Given the description of an element on the screen output the (x, y) to click on. 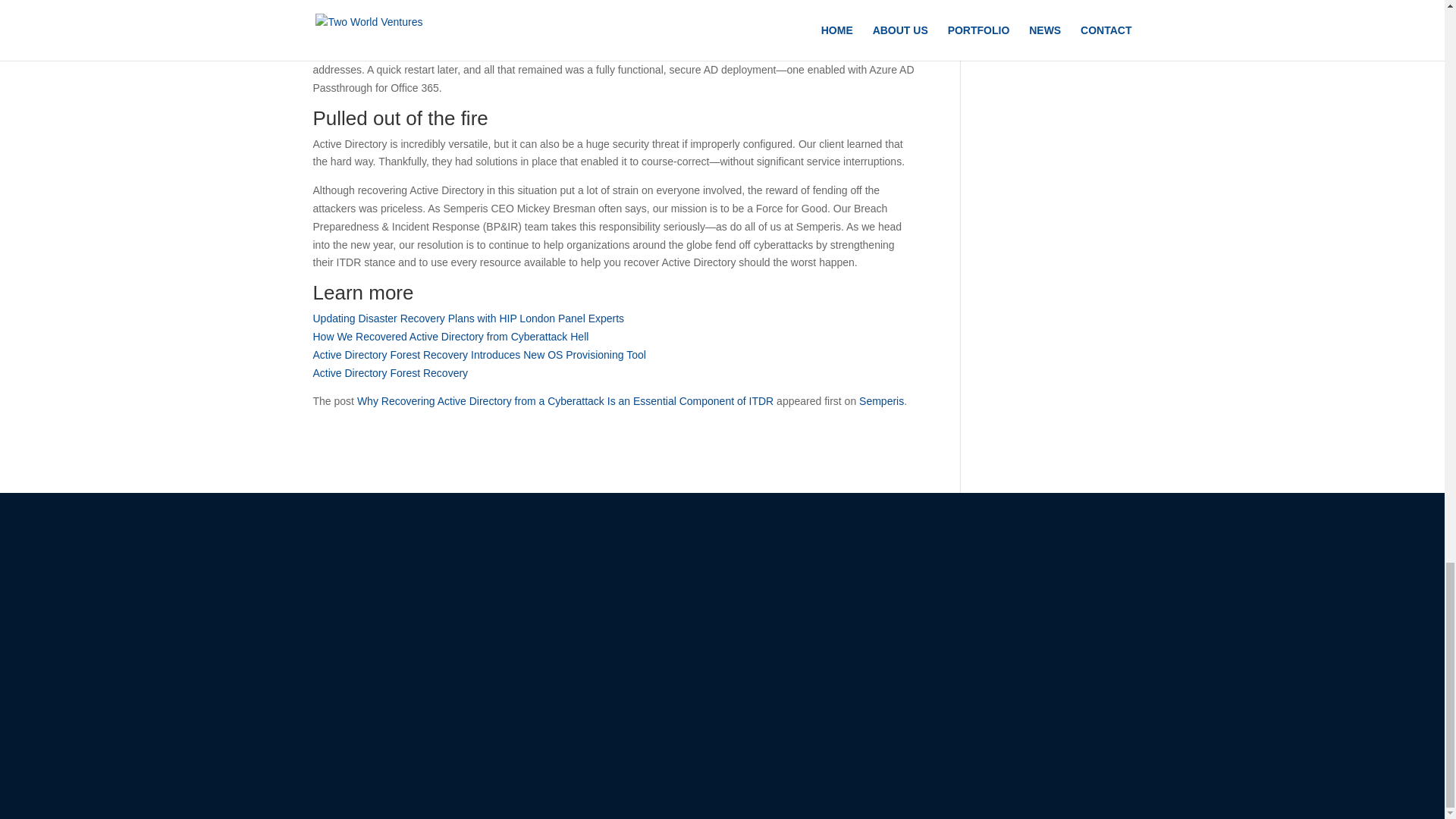
Active Directory Forest Recovery (390, 372)
Semperis (881, 400)
How We Recovered Active Directory from Cyberattack Hell (450, 336)
